Given the description of an element on the screen output the (x, y) to click on. 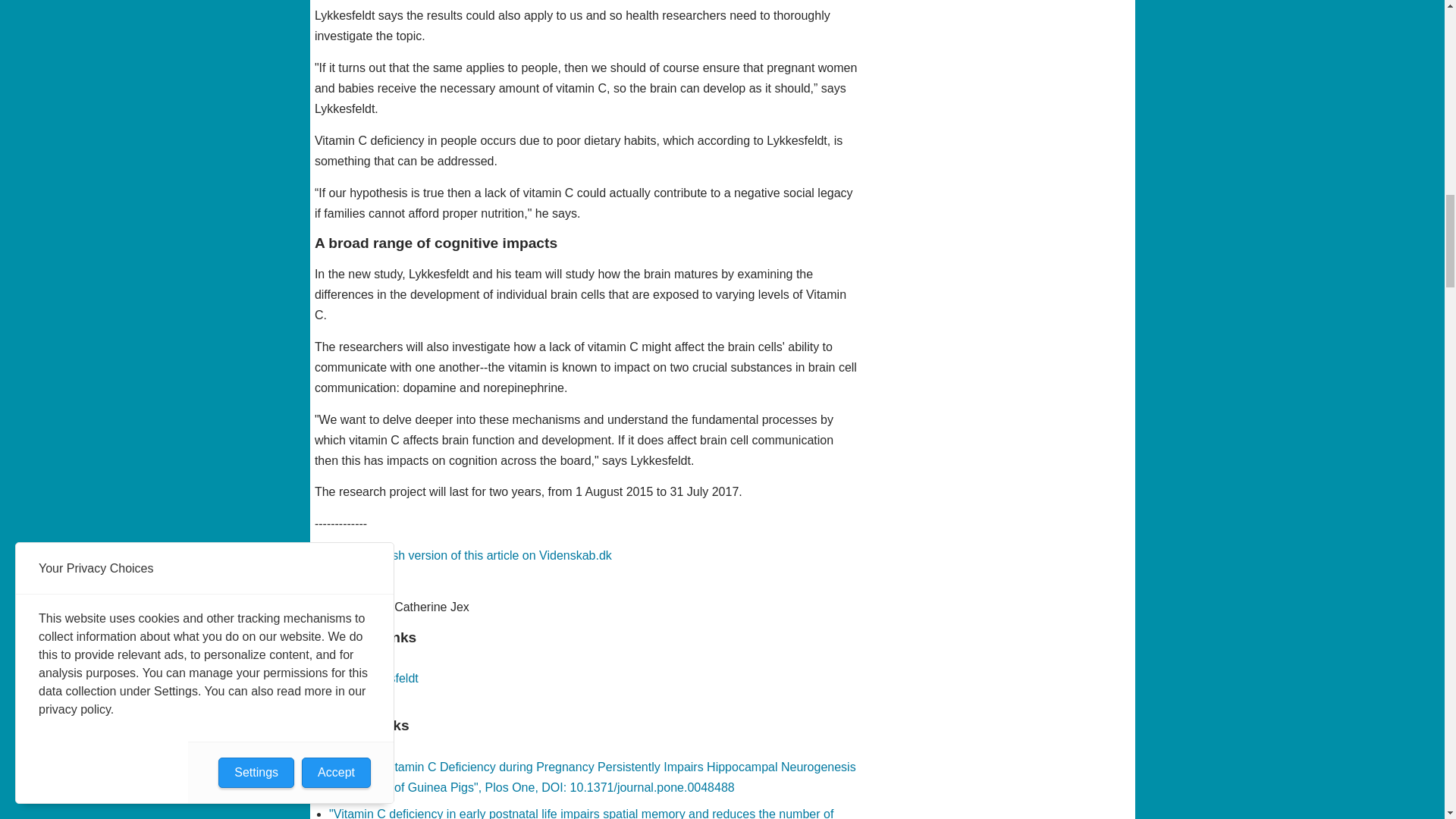
Jens Lykkesfeldt (374, 677)
Read the Danish version of this article on Videnskab.dk (462, 554)
